Given the description of an element on the screen output the (x, y) to click on. 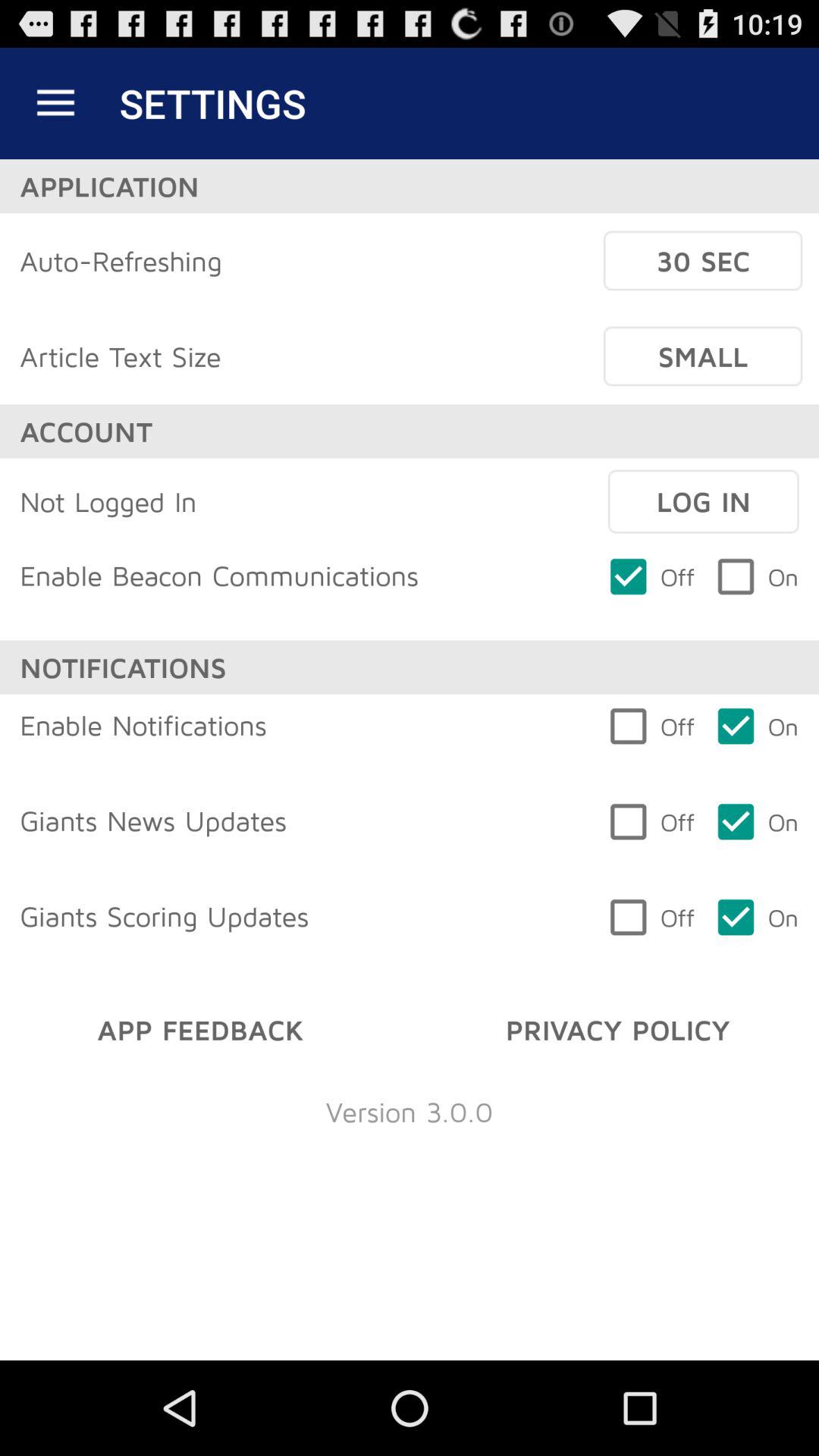
turn on the item to the left of the settings (55, 103)
